Given the description of an element on the screen output the (x, y) to click on. 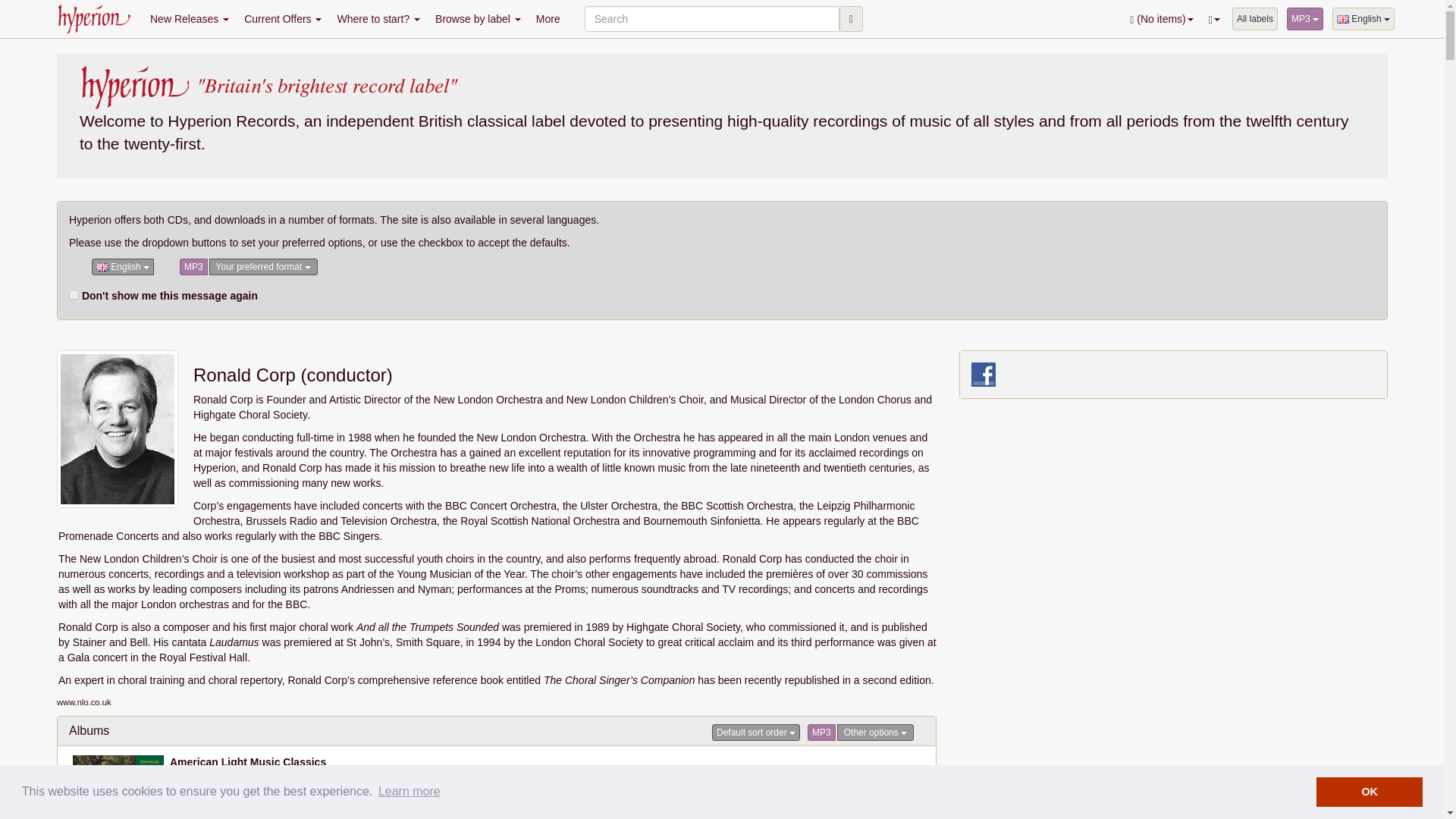
Where to start? (378, 18)
on (73, 294)
Current Offers (282, 18)
More (547, 18)
New Releases (188, 18)
OK (1369, 791)
Browse by label (478, 18)
Learn more (408, 791)
